Given the description of an element on the screen output the (x, y) to click on. 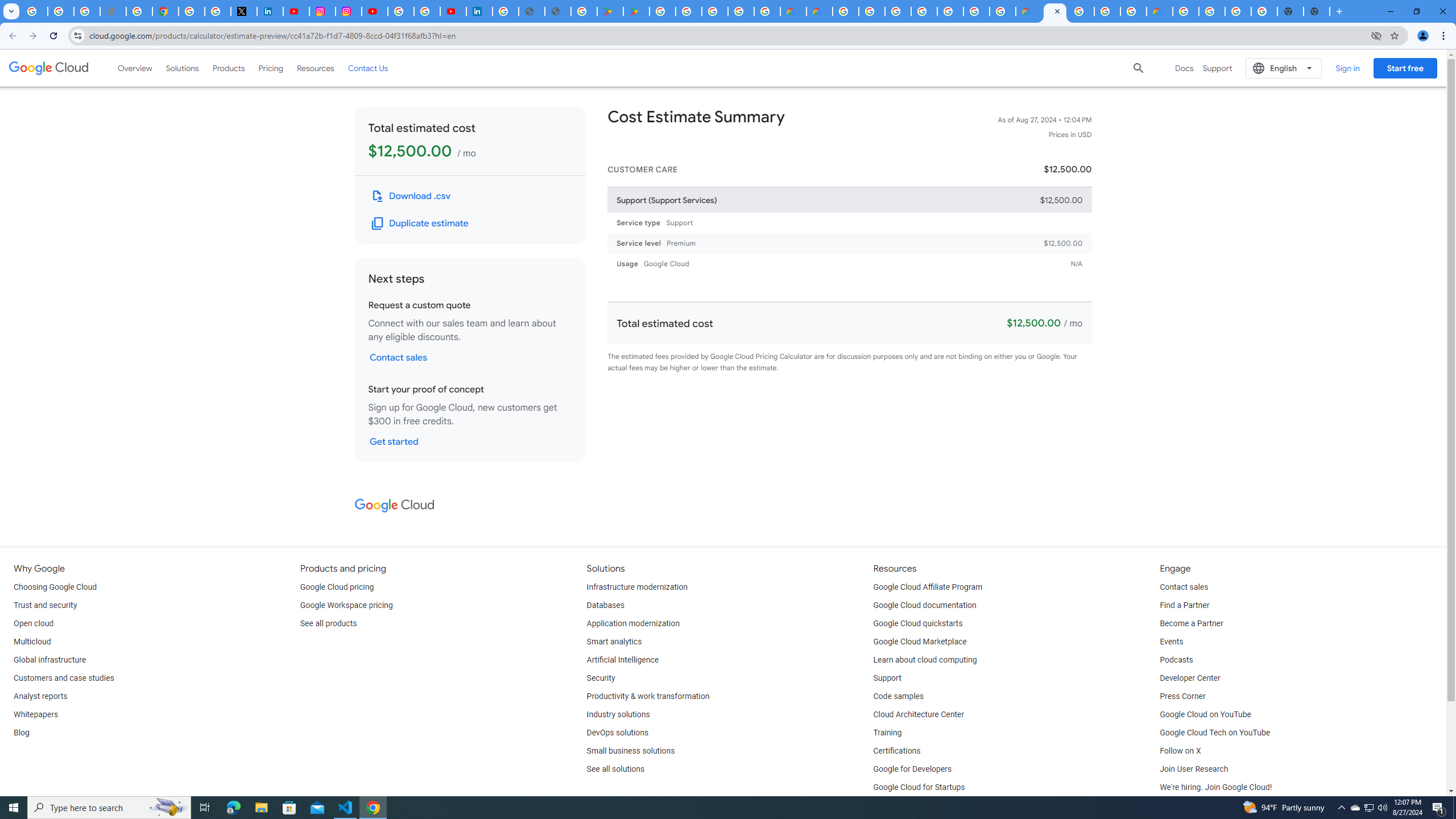
PAW Patrol Rescue World - Apps on Google Play (636, 11)
Podcasts (1175, 660)
Productivity & work transformation (648, 696)
Solutions (181, 67)
Google for Developers (912, 769)
